Given the description of an element on the screen output the (x, y) to click on. 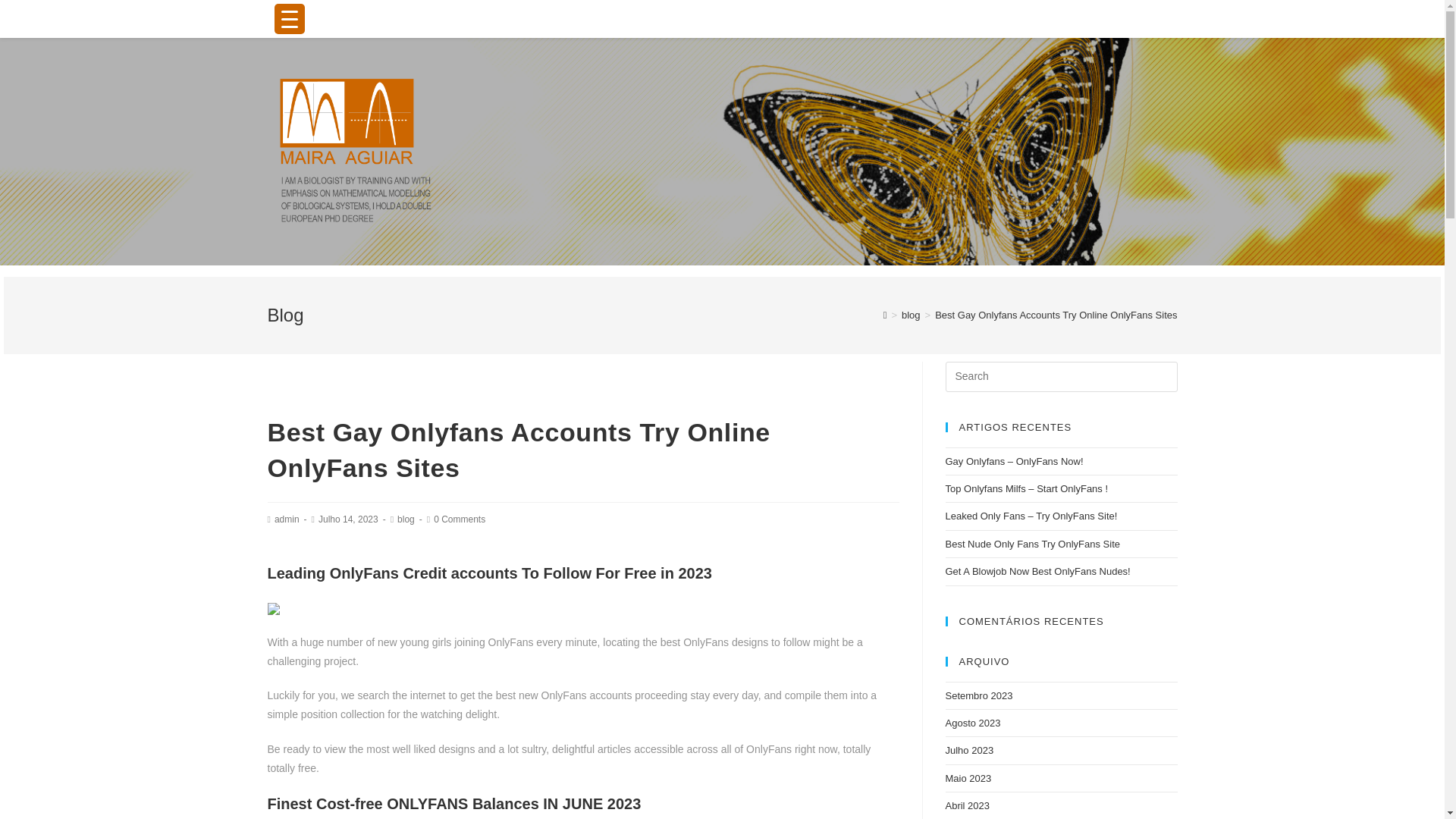
blog (910, 315)
Artigos de admin (287, 519)
